Given the description of an element on the screen output the (x, y) to click on. 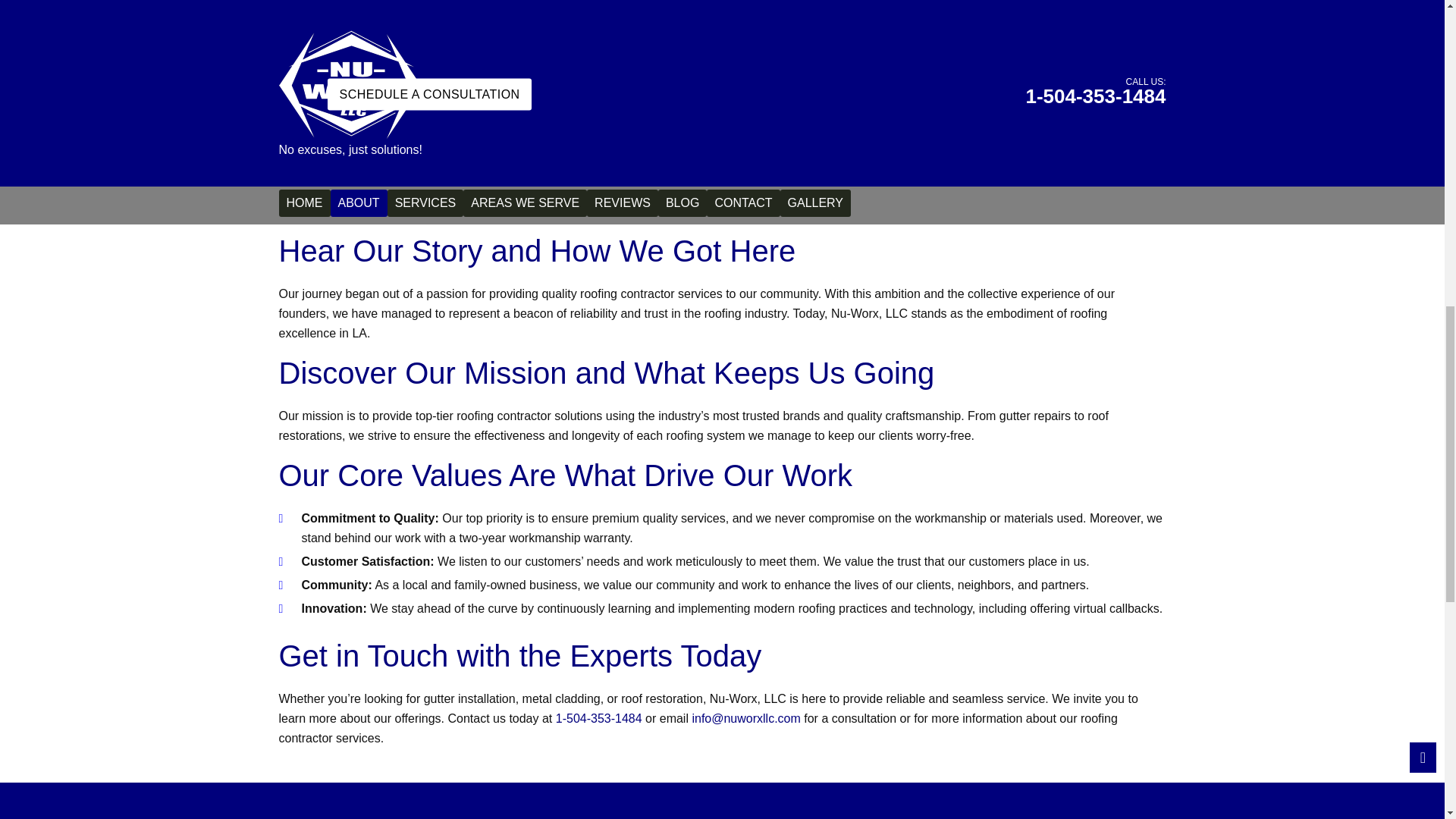
About Us (722, 79)
